Given the description of an element on the screen output the (x, y) to click on. 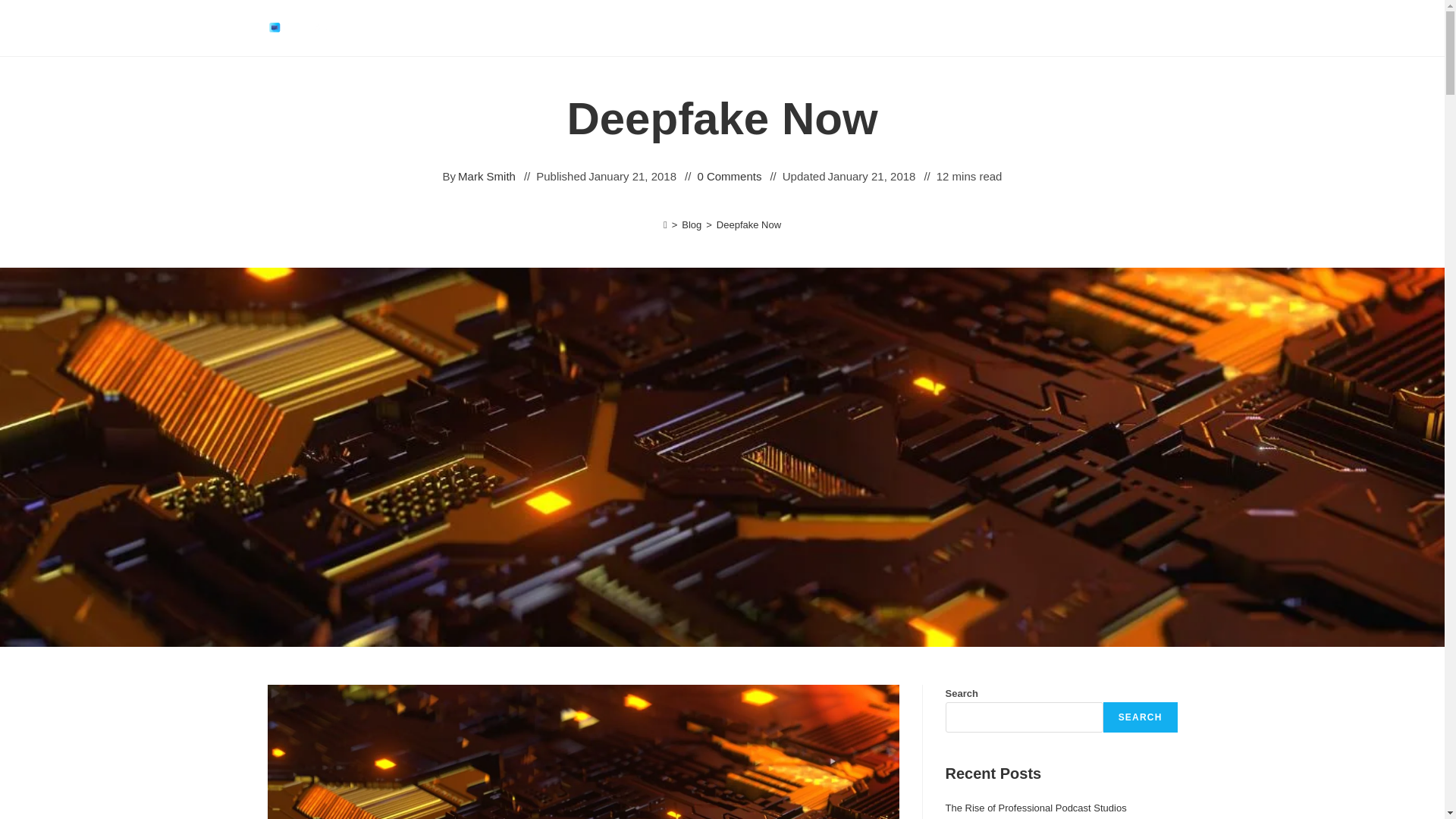
Blog (691, 224)
0 Comments (729, 176)
Deepfake Now (748, 224)
Mark Smith (486, 176)
